Given the description of an element on the screen output the (x, y) to click on. 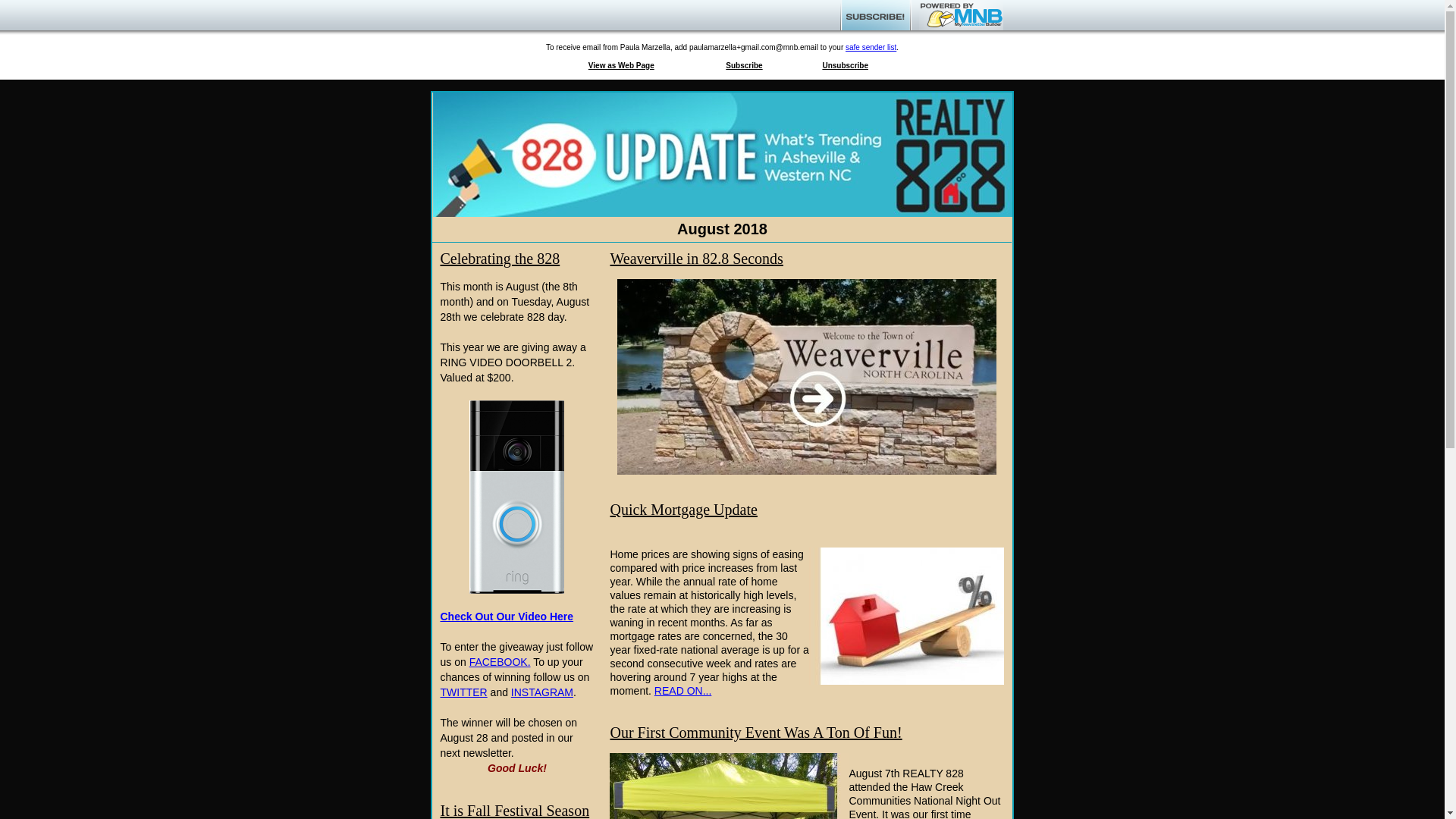
Unsubscribe (844, 65)
FACEBOOK. (499, 662)
safe sender list (870, 47)
View as Web Page (620, 65)
TWITTER (462, 692)
Subscribe (743, 65)
Check Out Our Video Here (506, 616)
weaverville 82.8 seconds (807, 377)
INSTAGRAM (542, 692)
READ ON... (682, 690)
